Given the description of an element on the screen output the (x, y) to click on. 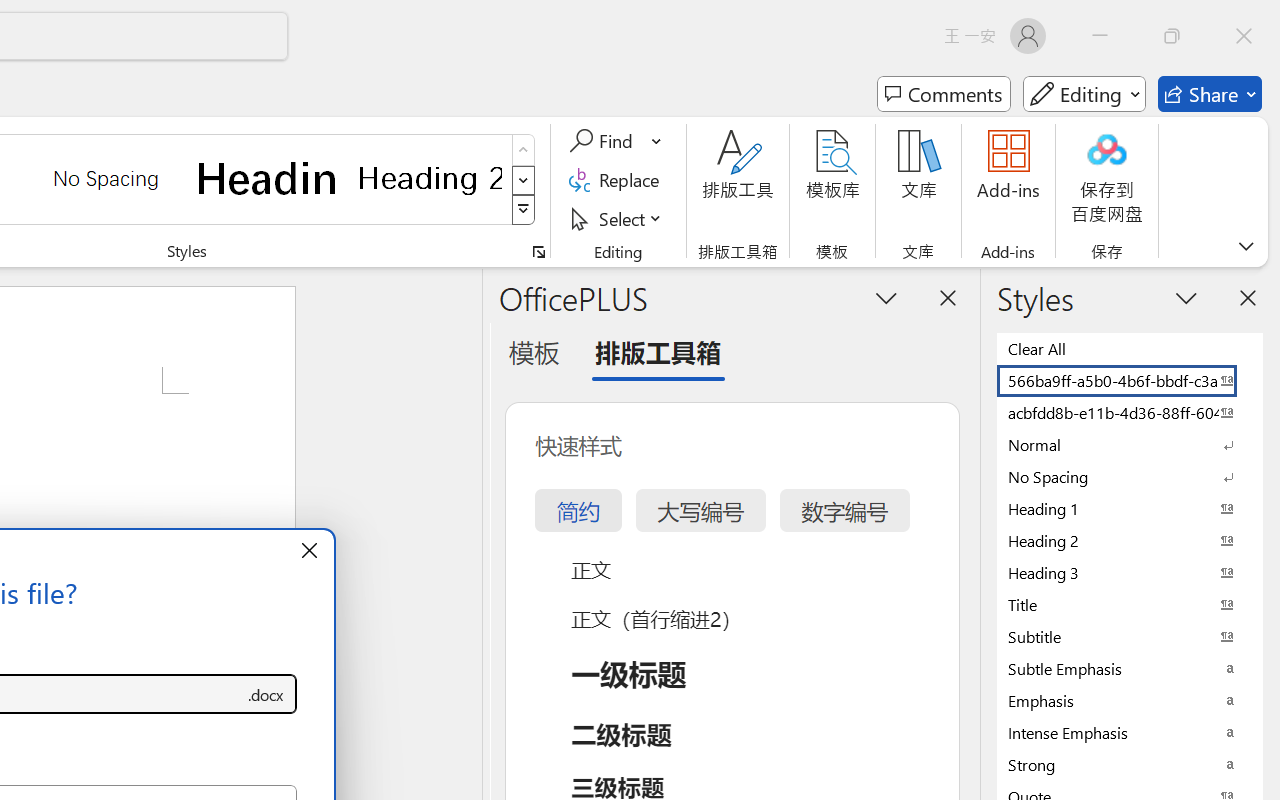
Subtitle (1130, 636)
Save as type (265, 694)
Normal (1130, 444)
Mode (1083, 94)
Heading 1 (267, 178)
Title (1130, 604)
Class: NetUIImage (523, 210)
Restore Down (1172, 36)
Ribbon Display Options (1246, 245)
Share (1210, 94)
Heading 2 (429, 178)
